Given the description of an element on the screen output the (x, y) to click on. 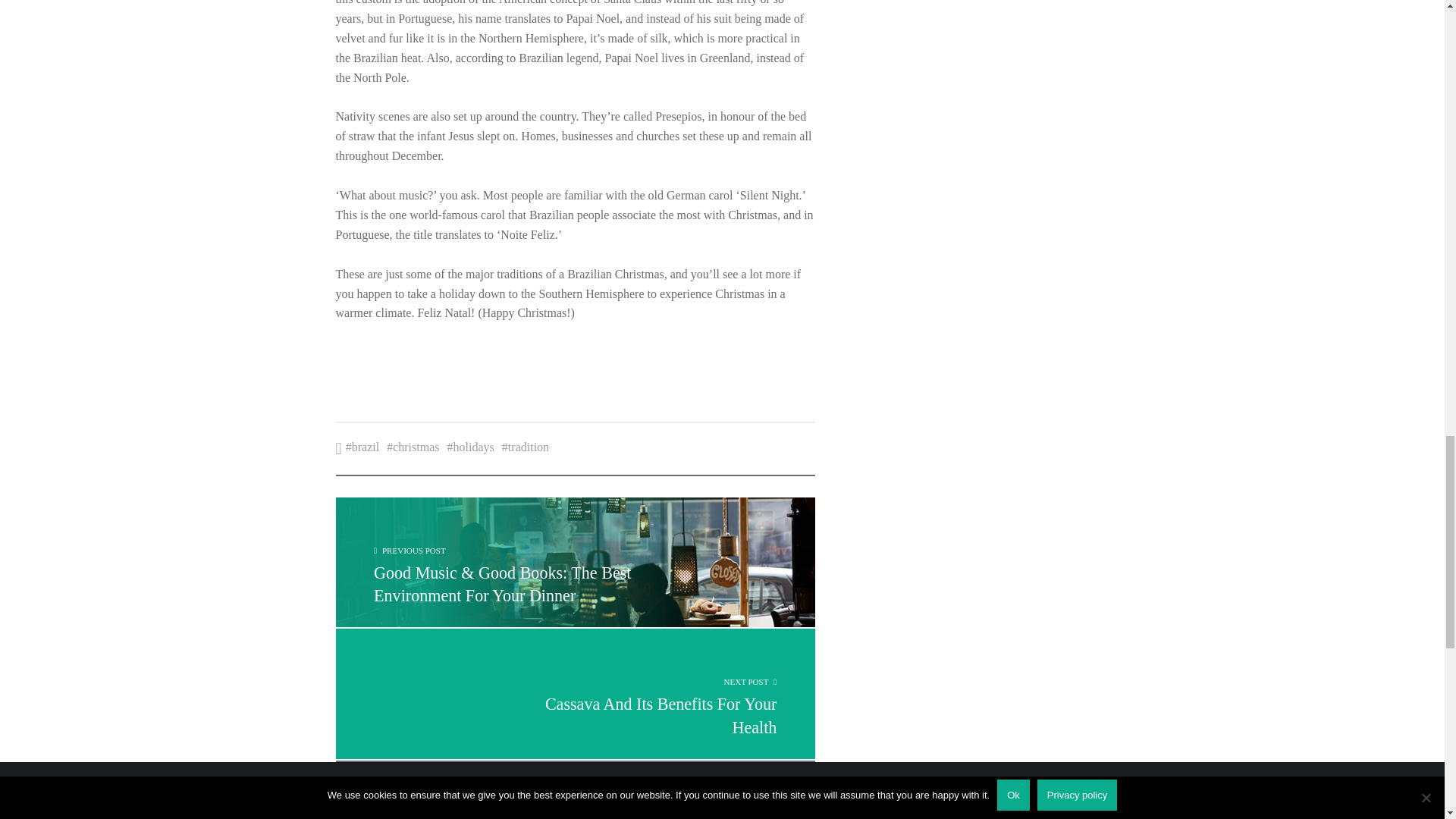
tradition (573, 693)
holidays (525, 446)
brazil (470, 446)
christmas (362, 446)
